Given the description of an element on the screen output the (x, y) to click on. 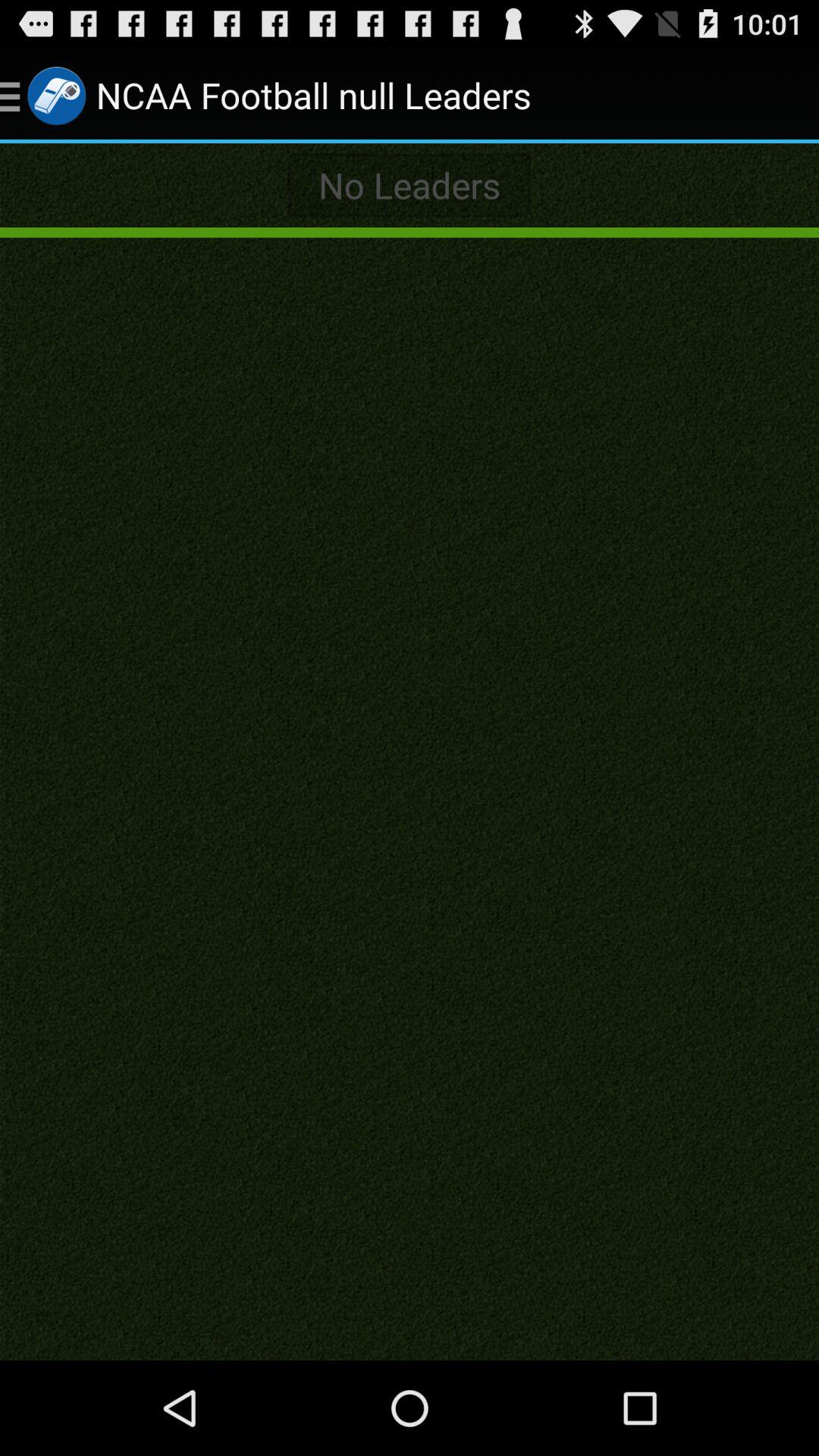
launch app below ncaa football null item (409, 185)
